Given the description of an element on the screen output the (x, y) to click on. 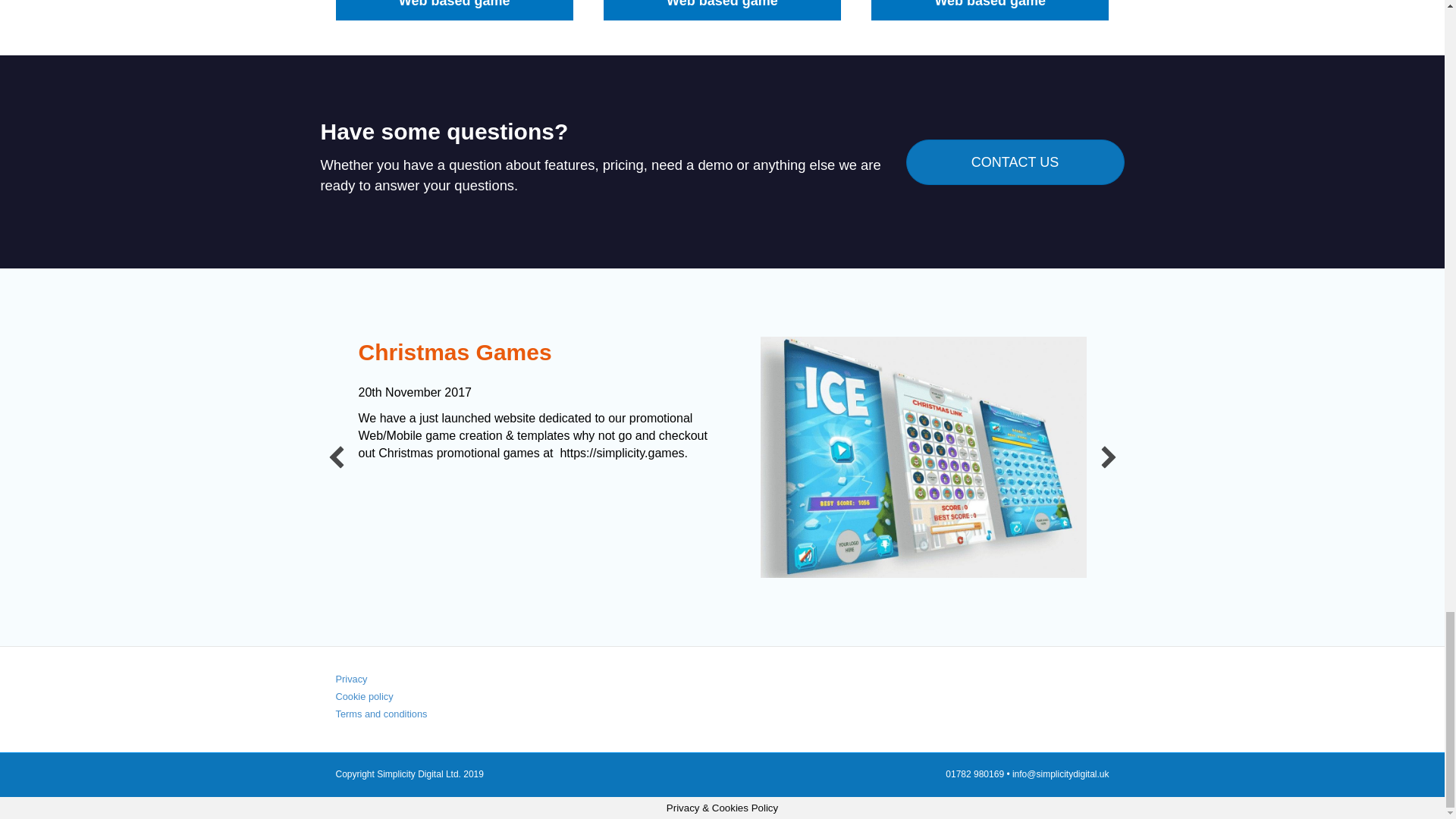
header (923, 456)
Christmas Games (454, 351)
